Given the description of an element on the screen output the (x, y) to click on. 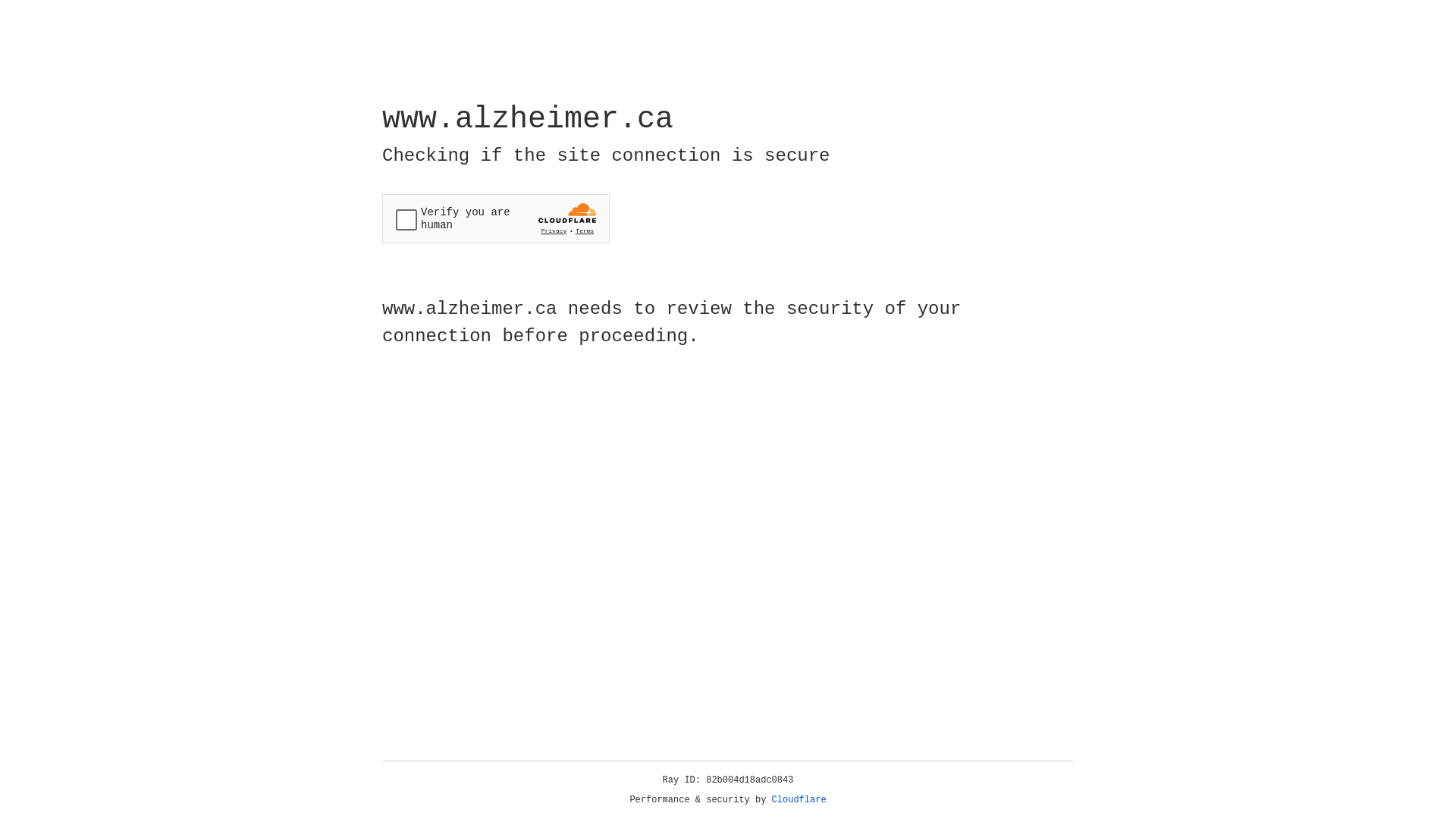
Widget containing a Cloudflare security challenge Element type: hover (495, 218)
Cloudflare Element type: text (798, 799)
